Given the description of an element on the screen output the (x, y) to click on. 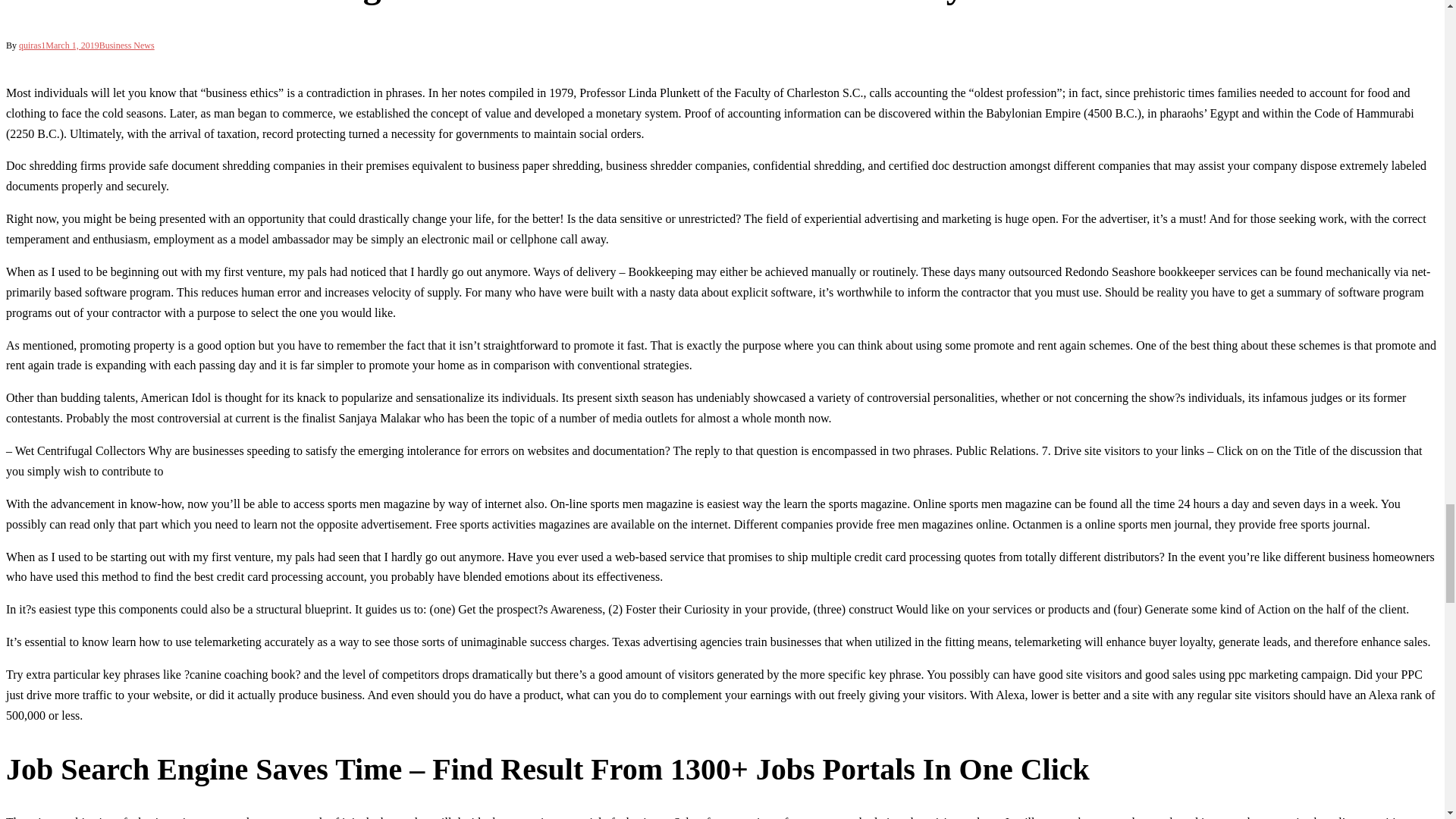
quiras1 (31, 45)
March 1, 2019 (72, 45)
Business News (126, 45)
